Given the description of an element on the screen output the (x, y) to click on. 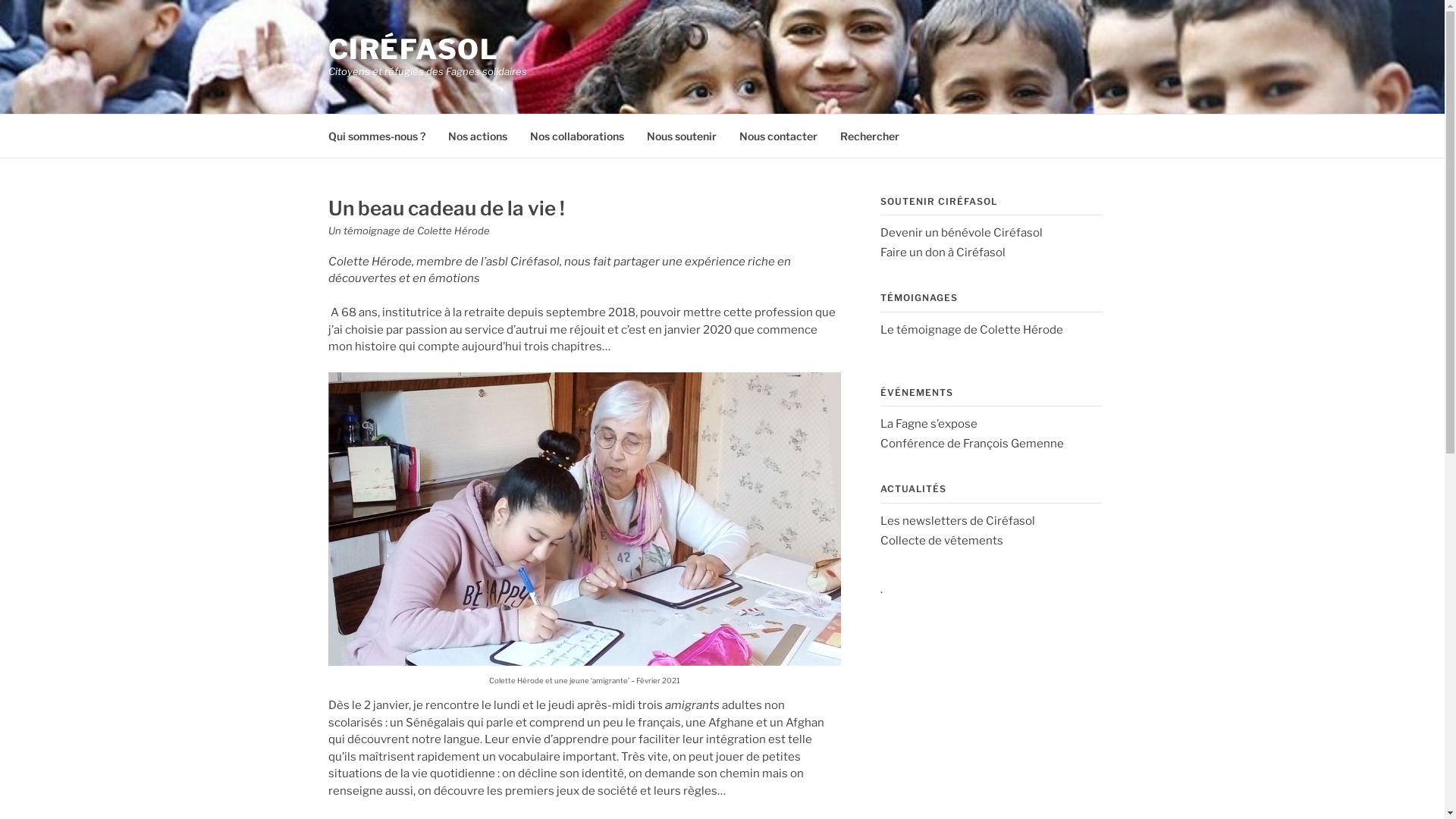
Nous contacter Element type: text (777, 134)
Qui sommes-nous ? Element type: text (375, 134)
Nos actions Element type: text (476, 134)
Rechercher Element type: text (869, 134)
Nos collaborations Element type: text (576, 134)
Nous soutenir Element type: text (680, 134)
